Given the description of an element on the screen output the (x, y) to click on. 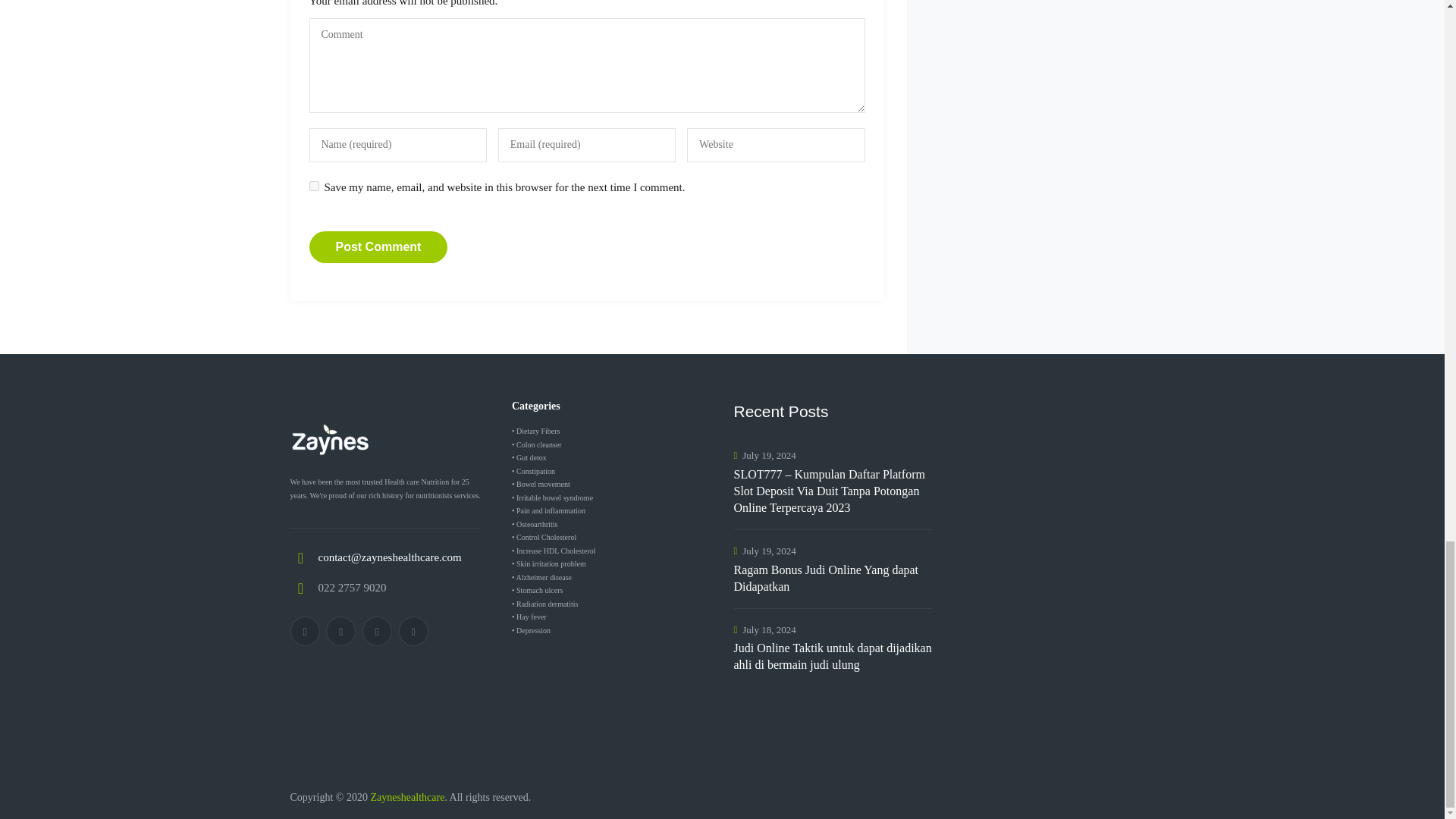
Ragam Bonus Judi Online Yang dapat Didapatkan (833, 578)
Post Comment (378, 246)
Post Comment (378, 246)
yes (313, 185)
Zayneshealthcare (406, 797)
